Given the description of an element on the screen output the (x, y) to click on. 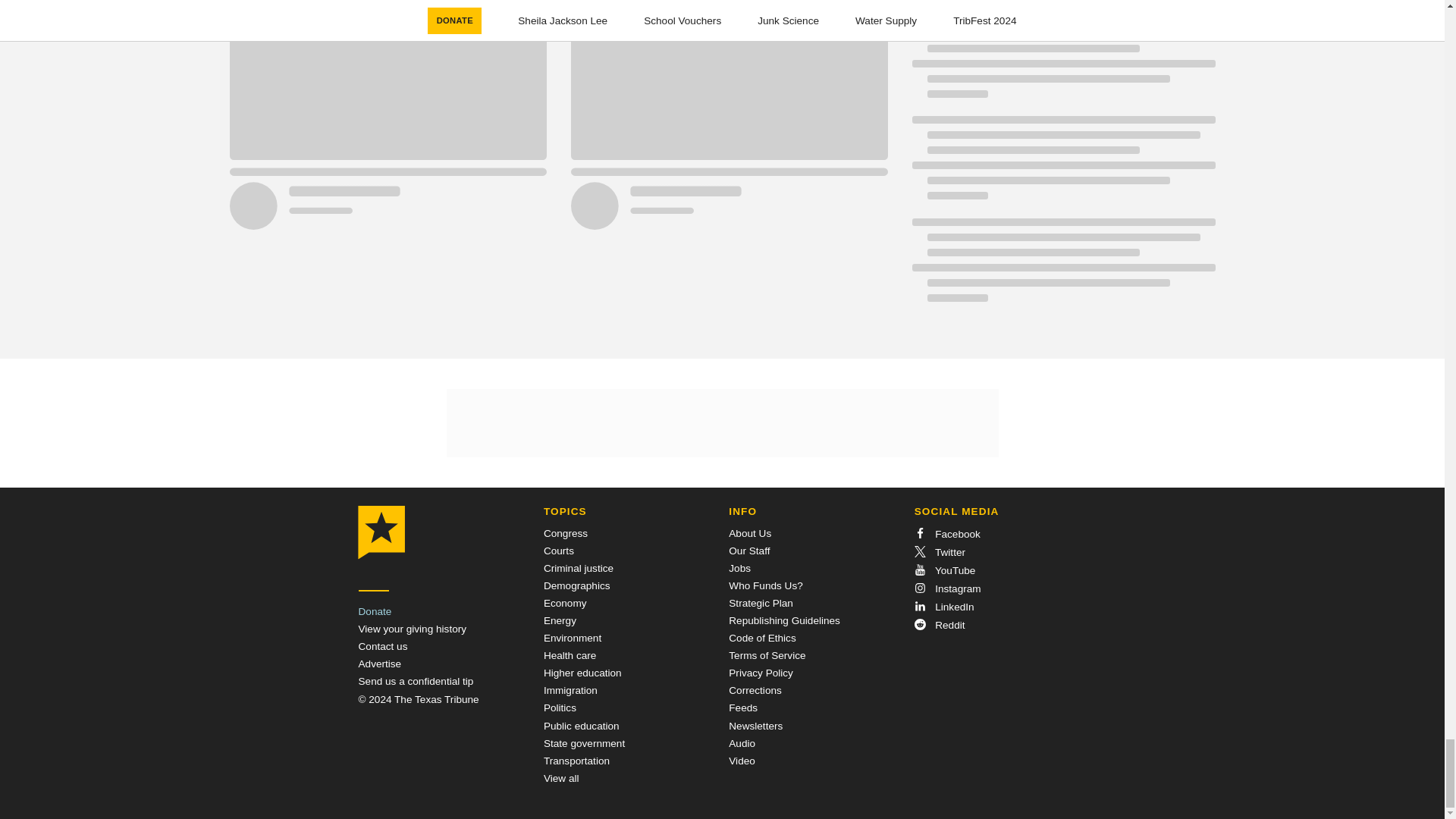
Audio (742, 743)
Loading indicator (1062, 5)
Privacy Policy (761, 672)
Feeds (743, 707)
View your giving history (411, 628)
Send a Tip (415, 681)
Corrections (755, 690)
Advertise (379, 663)
Loading indicator (1062, 63)
Loading indicator (1062, 267)
Republishing Guidelines (784, 620)
Terms of Service (767, 655)
Code of Ethics (761, 637)
Donate (374, 611)
Newsletters (756, 726)
